Given the description of an element on the screen output the (x, y) to click on. 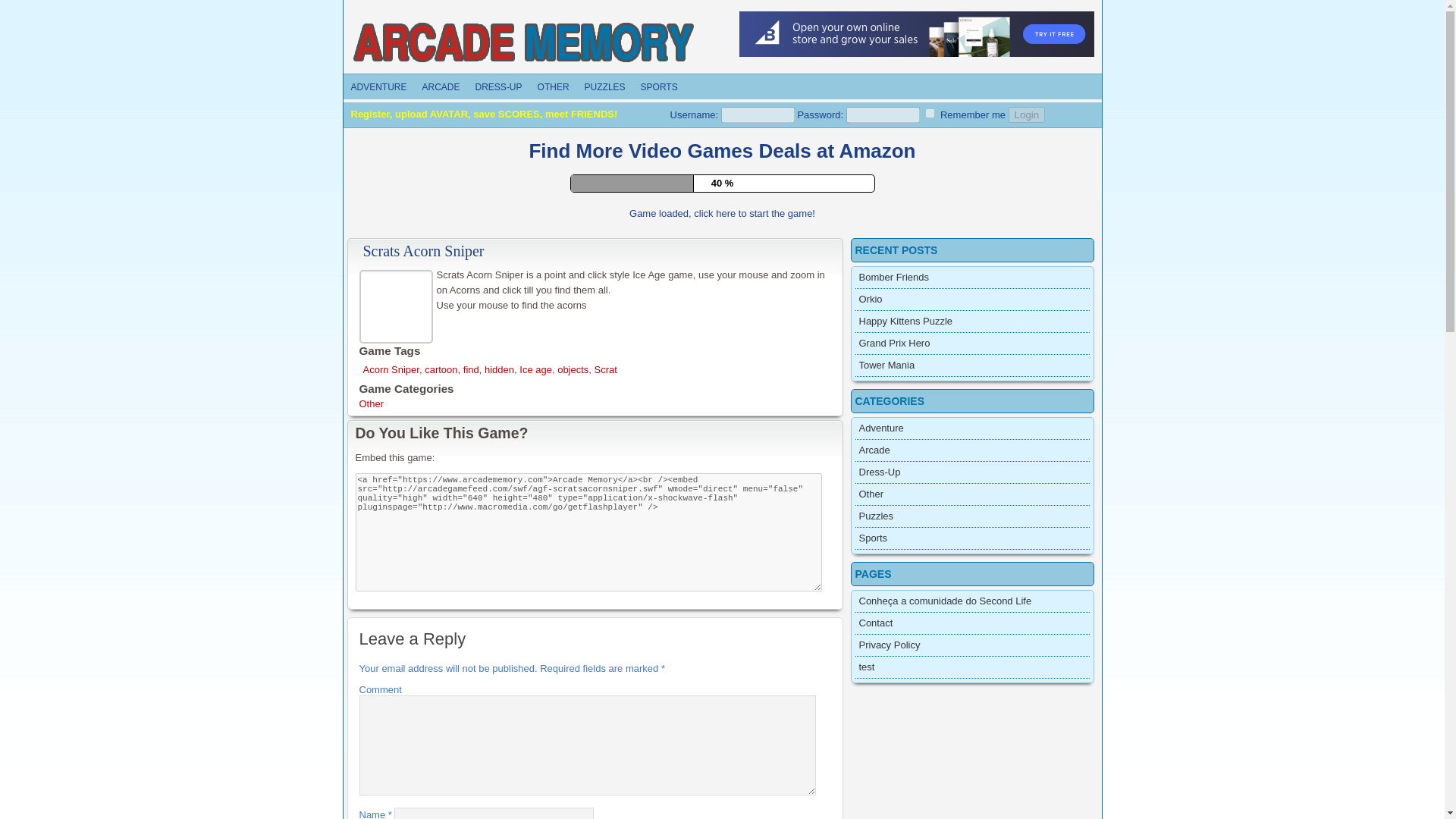
SPORTS (659, 86)
OTHER (552, 86)
ARCADE (440, 86)
hidden (498, 369)
DRESS-UP (498, 86)
Scrats Acorn Sniper (422, 250)
Scrats Acorn Sniper (397, 304)
Find More Video Games Deals at Amazon (721, 150)
Puzzles (604, 86)
Adventure (377, 86)
